Given the description of an element on the screen output the (x, y) to click on. 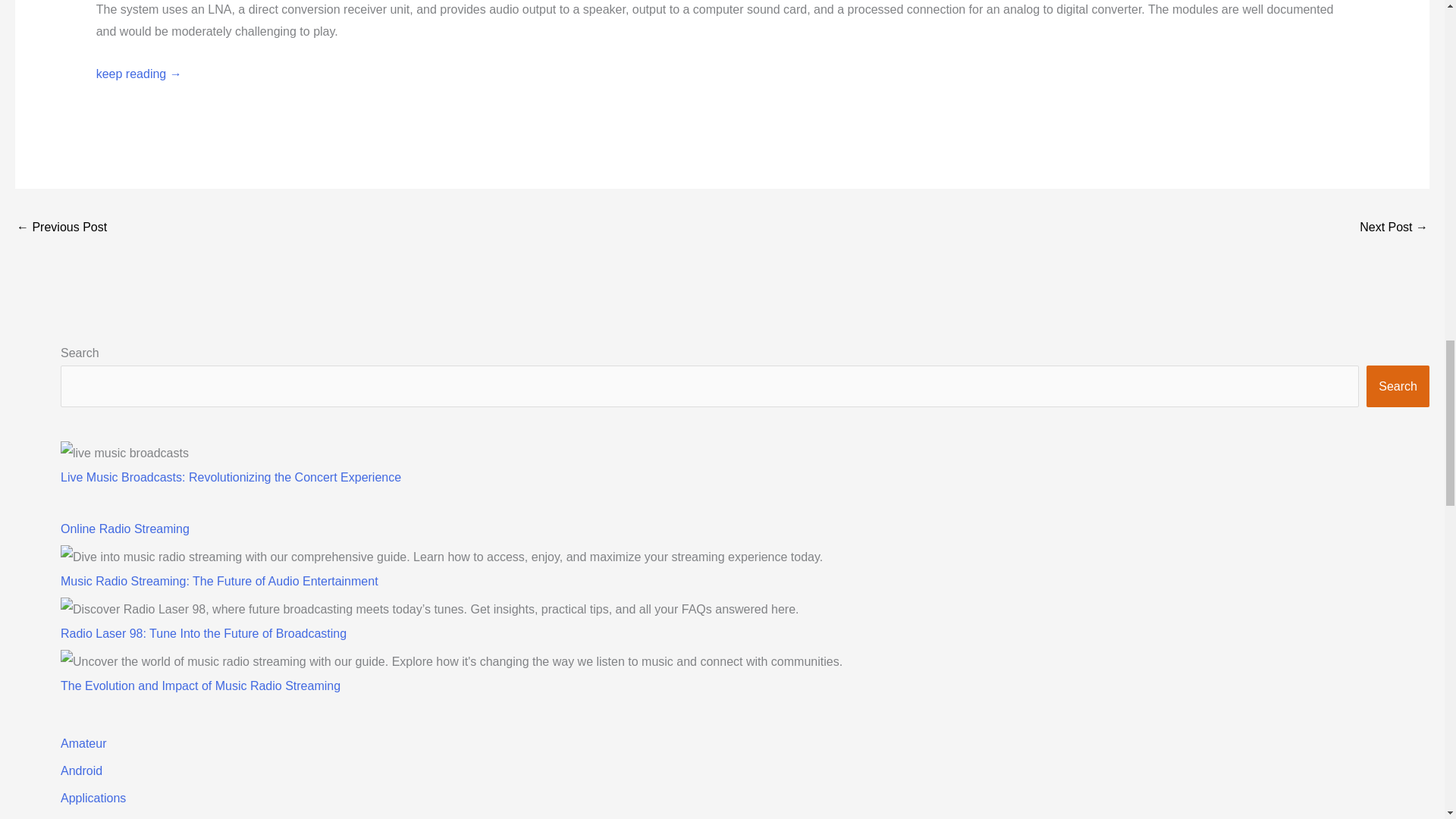
Applications (93, 797)
Amateur (83, 743)
Radio Laser 98: Tune Into the Future of Broadcasting (203, 633)
The Evolution and Impact of Music Radio Streaming (200, 685)
Online Radio Streaming (125, 528)
Search (1398, 385)
Per Vices Releases Cyan EC SDR (61, 228)
Android (81, 770)
